Given the description of an element on the screen output the (x, y) to click on. 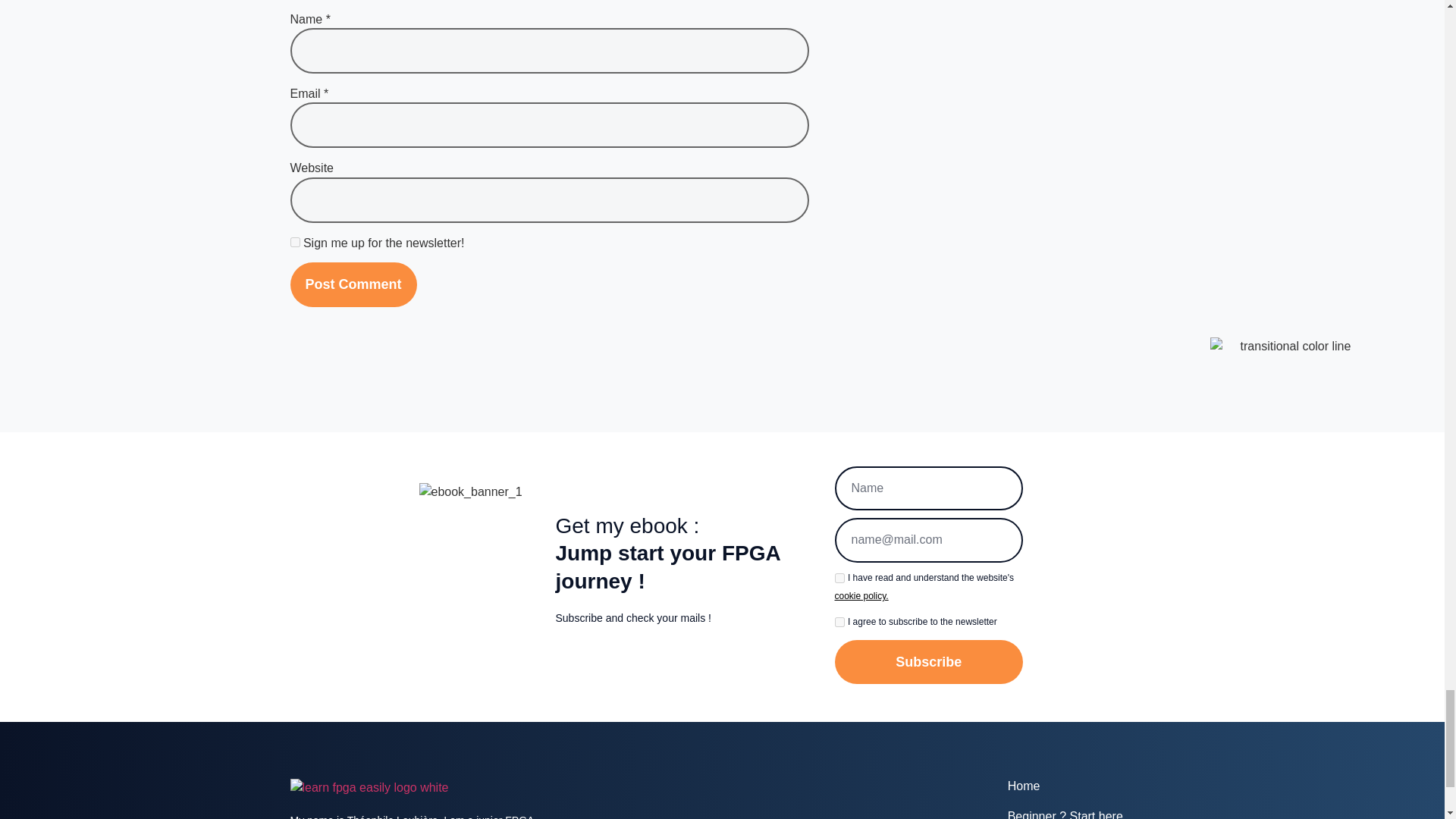
Post Comment (352, 284)
Home (1080, 785)
on (839, 622)
1 (294, 242)
cookie policy. (861, 595)
Subscribe (928, 661)
Post Comment (352, 284)
on (839, 578)
